Given the description of an element on the screen output the (x, y) to click on. 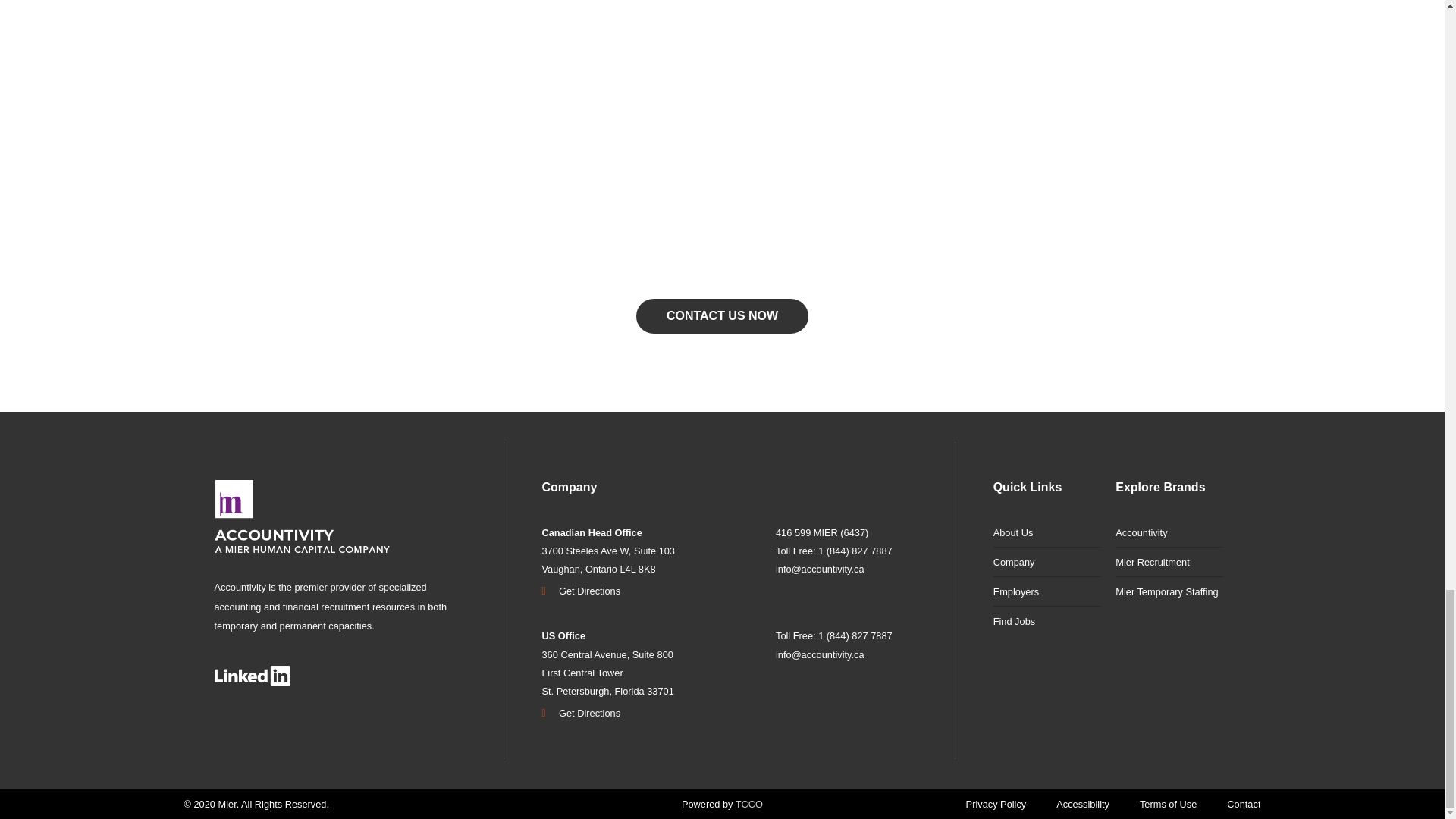
Get Directions (650, 590)
Page 3 (339, 607)
Company (1046, 562)
Get Directions (650, 712)
About Us (1046, 532)
Employers (1046, 591)
Find Jobs (1046, 621)
CONTACT US NOW (721, 315)
Accountivity (1169, 532)
